Given the description of an element on the screen output the (x, y) to click on. 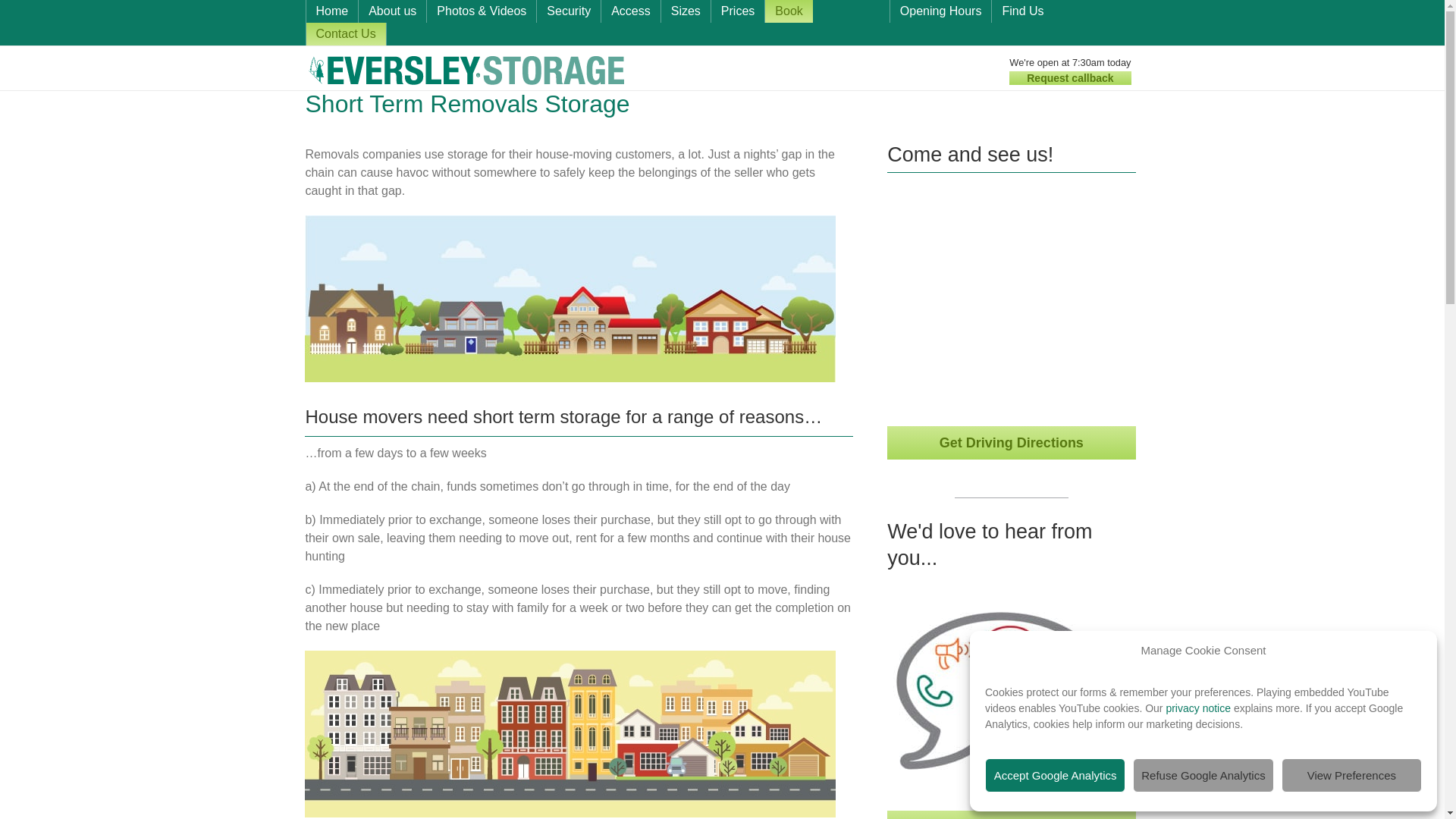
About us (392, 11)
Security (568, 11)
Accept Google Analytics (1055, 775)
Contact Us (1010, 814)
Refuse Google Analytics (1202, 775)
privacy notice (1198, 707)
View Preferences (1351, 775)
Access (631, 11)
Sizes (685, 11)
Opening Hours (940, 11)
Book (788, 11)
Contact Us (345, 33)
Get Driving Directions (1010, 442)
Home (331, 11)
Find Us (1021, 11)
